Given the description of an element on the screen output the (x, y) to click on. 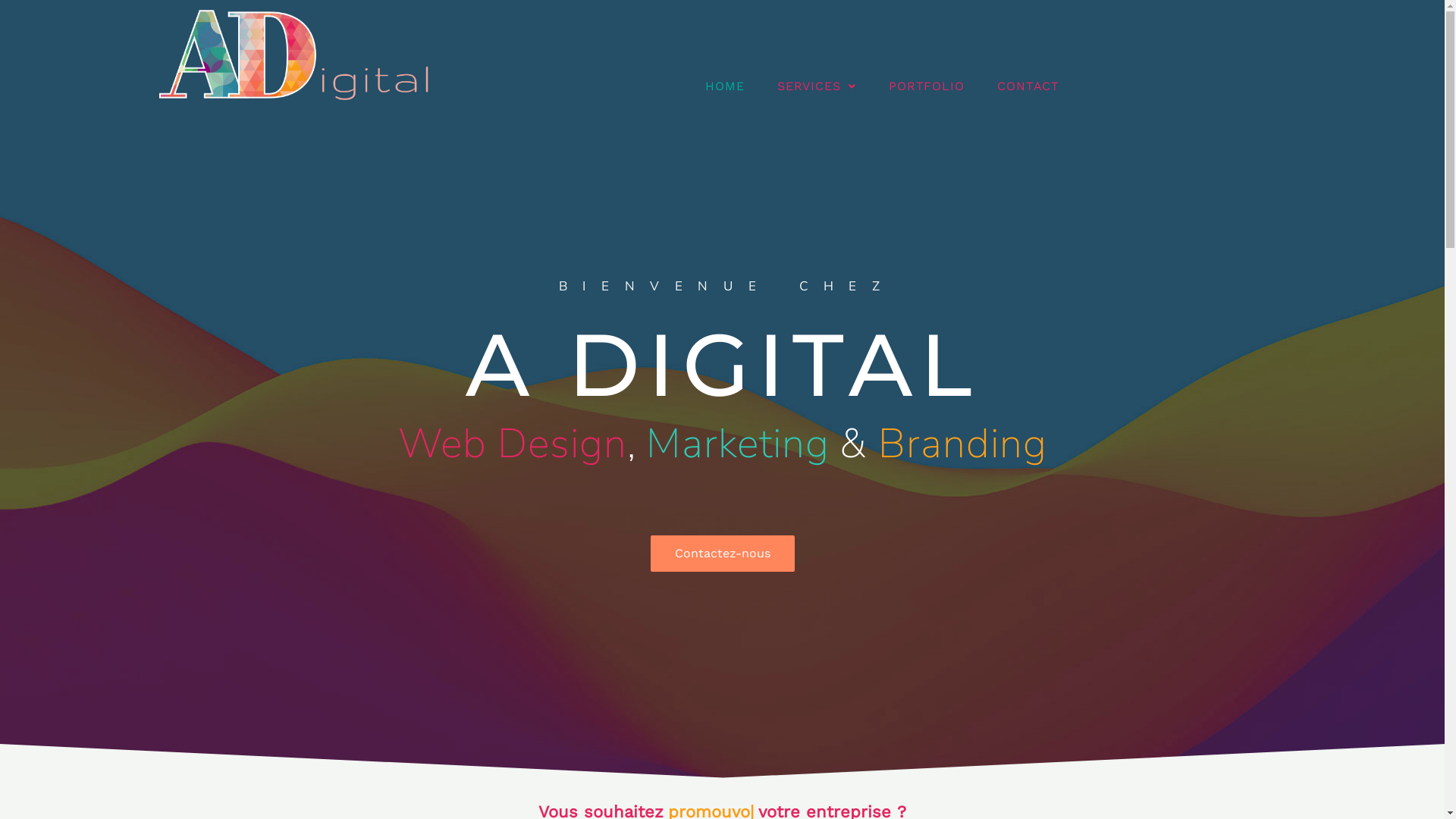
Contactez-nous Element type: text (722, 553)
HOME Element type: text (724, 86)
SERVICES Element type: text (816, 86)
CONTACT Element type: text (1027, 86)
PORTFOLIO Element type: text (926, 86)
